Given the description of an element on the screen output the (x, y) to click on. 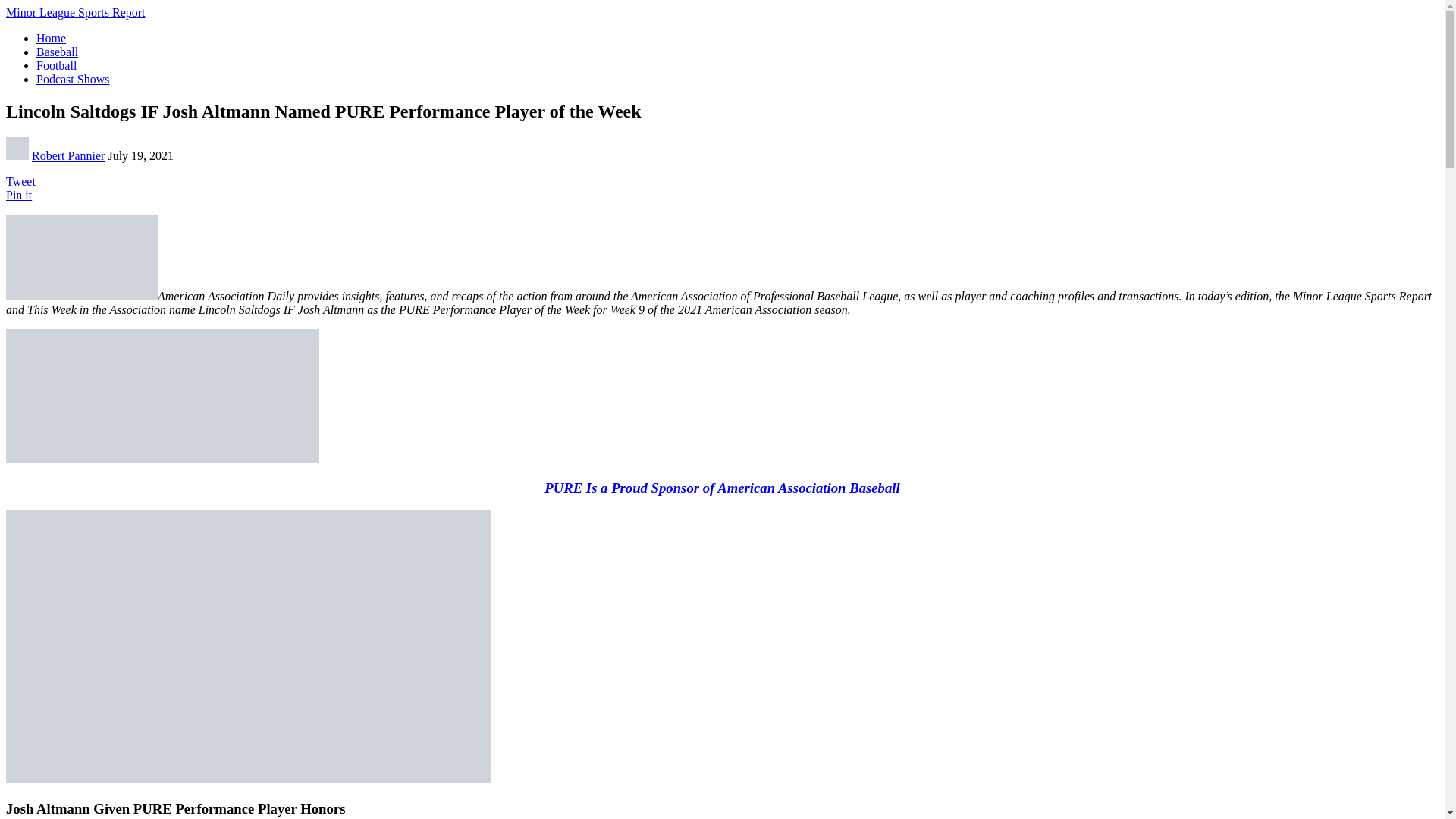
Baseball (57, 51)
Minor League Sports Report (75, 11)
Home (50, 38)
Pin it (18, 195)
Podcast Shows (72, 78)
Football (56, 65)
Minor League Sports Report (75, 11)
PURE Is a Proud Sponsor of American Association Baseball (721, 487)
Robert Pannier (68, 155)
Tweet (19, 181)
